Given the description of an element on the screen output the (x, y) to click on. 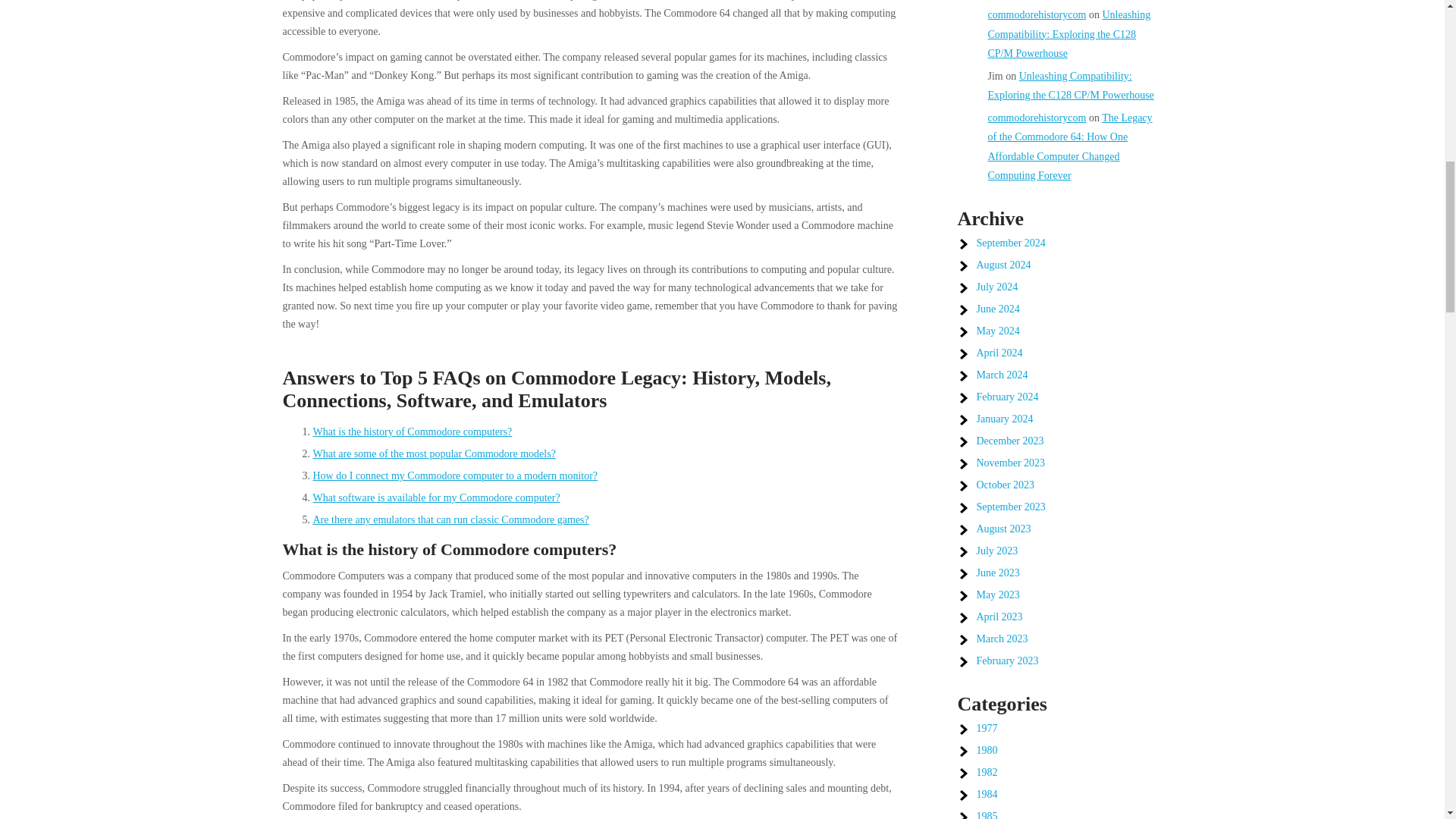
How do I connect my Commodore computer to a modern monitor? (454, 475)
What is the history of Commodore computers? (412, 431)
What are some of the most popular Commodore models? (433, 453)
What software is available for my Commodore computer? (436, 497)
